Given the description of an element on the screen output the (x, y) to click on. 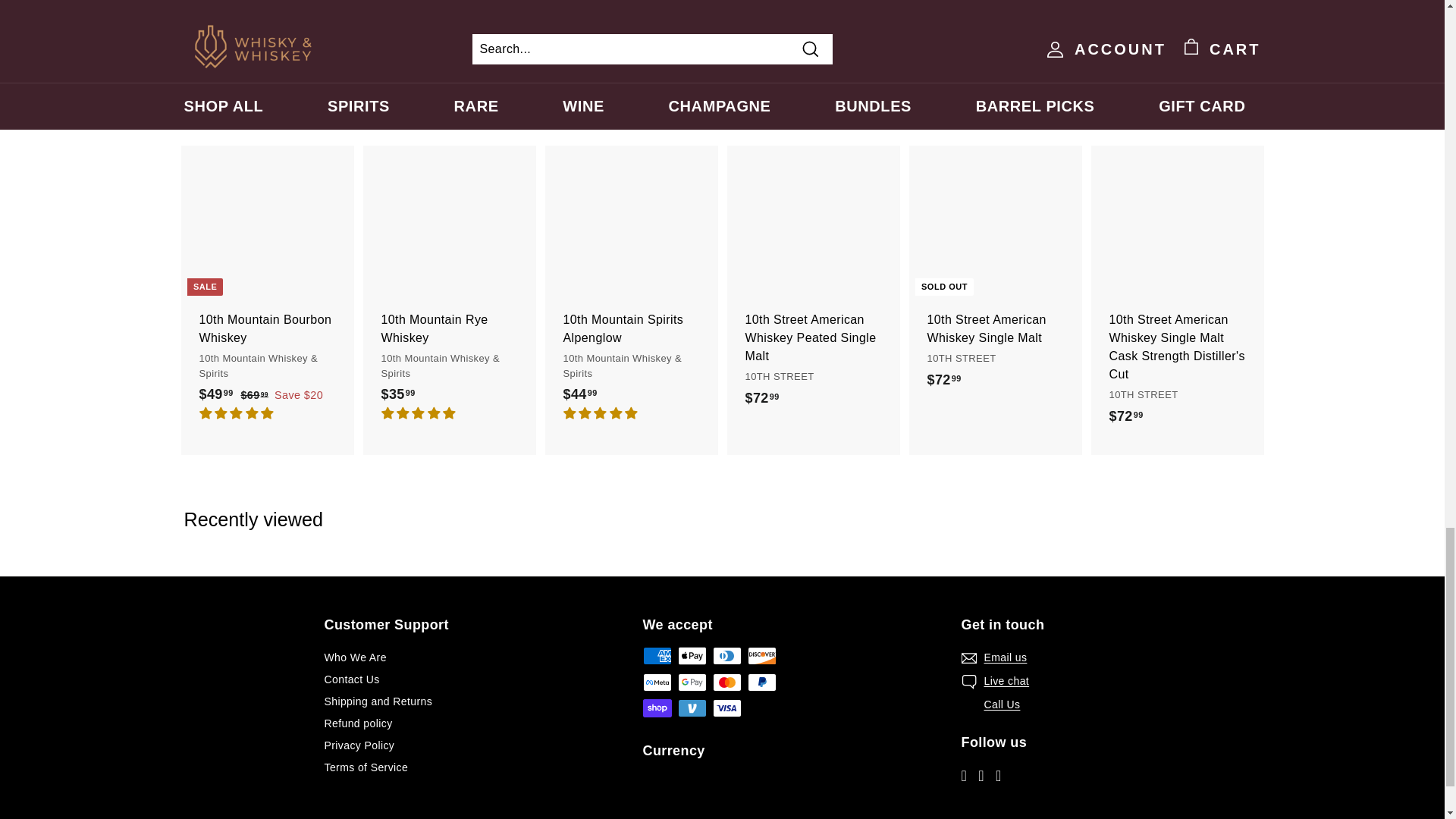
Shop Pay (657, 708)
Diners Club (727, 656)
Meta Pay (657, 682)
Venmo (692, 708)
Mastercard (727, 682)
Google Pay (692, 682)
Apple Pay (692, 656)
Discover (762, 656)
American Express (657, 656)
PayPal (762, 682)
